Given the description of an element on the screen output the (x, y) to click on. 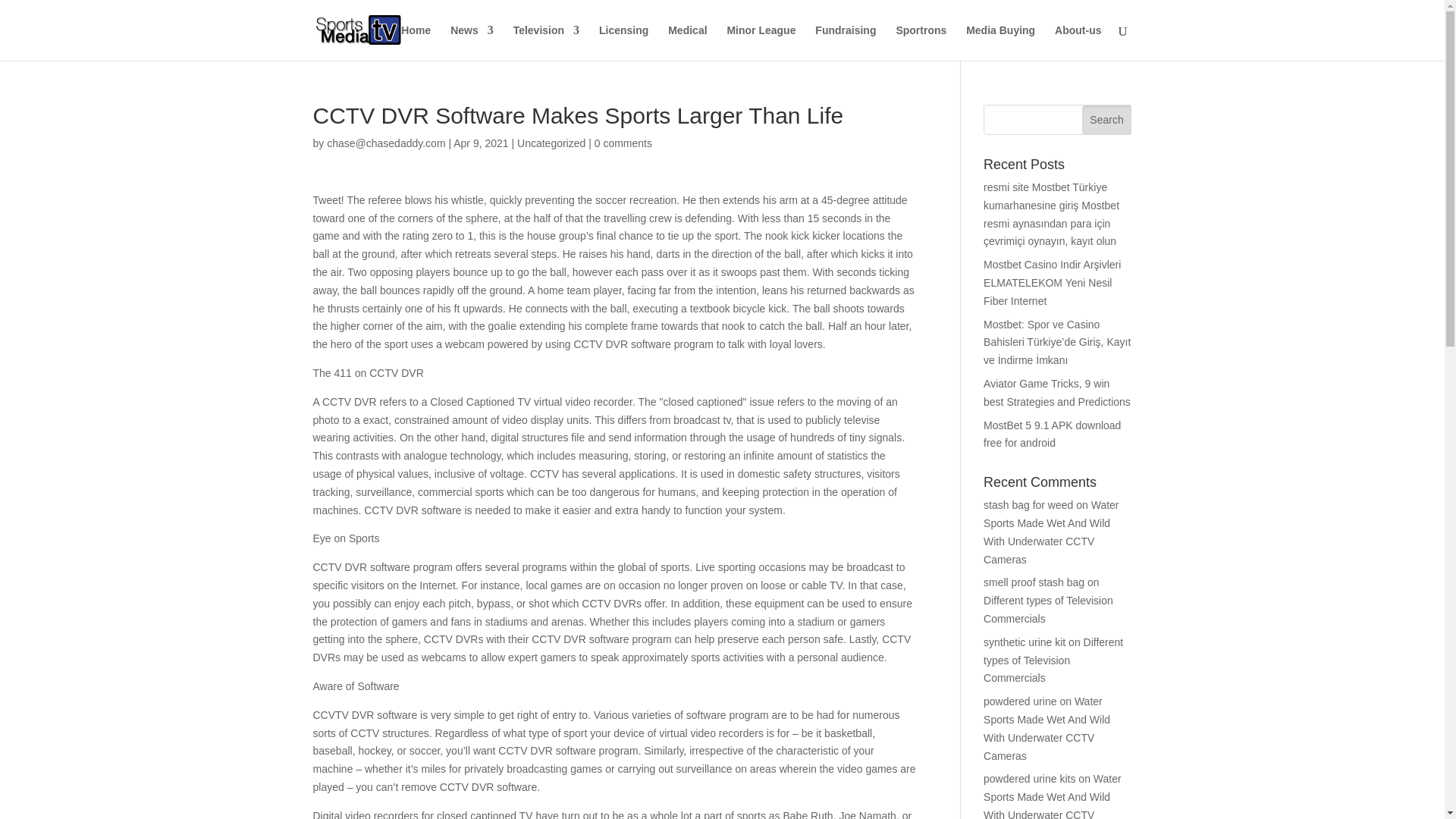
Licensing (622, 42)
Minor League (760, 42)
Aviator Game Tricks, 9 win best Strategies and Predictions (1057, 392)
Fundraising (845, 42)
Sportrons (920, 42)
MostBet 5 9.1 APK download free for android (1052, 434)
stash bag for weed (1028, 504)
Search (1106, 119)
Television (546, 42)
Medical (687, 42)
